Given the description of an element on the screen output the (x, y) to click on. 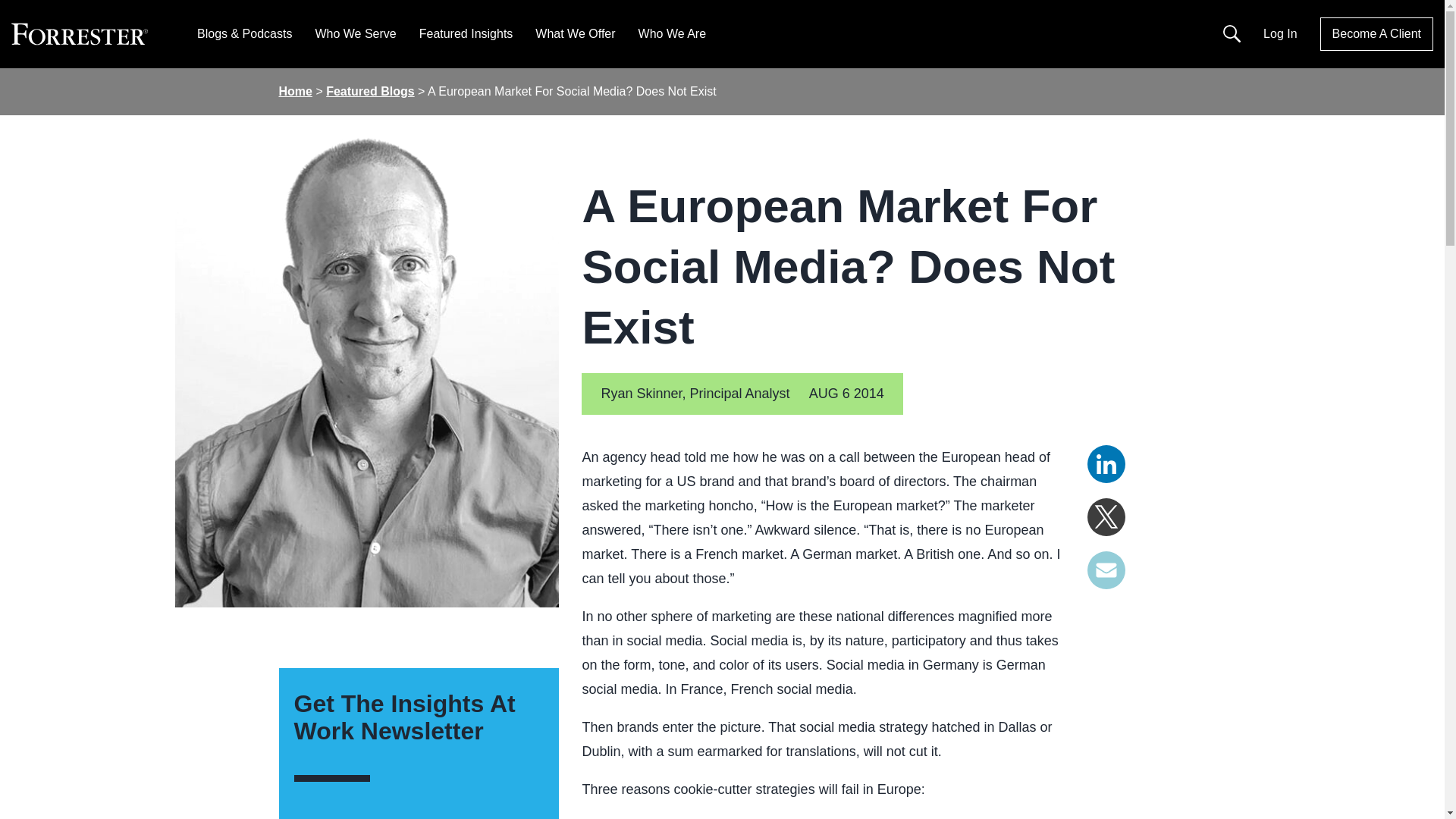
Featured Insights (466, 33)
Who We Serve (355, 33)
What We Offer (574, 33)
